Given the description of an element on the screen output the (x, y) to click on. 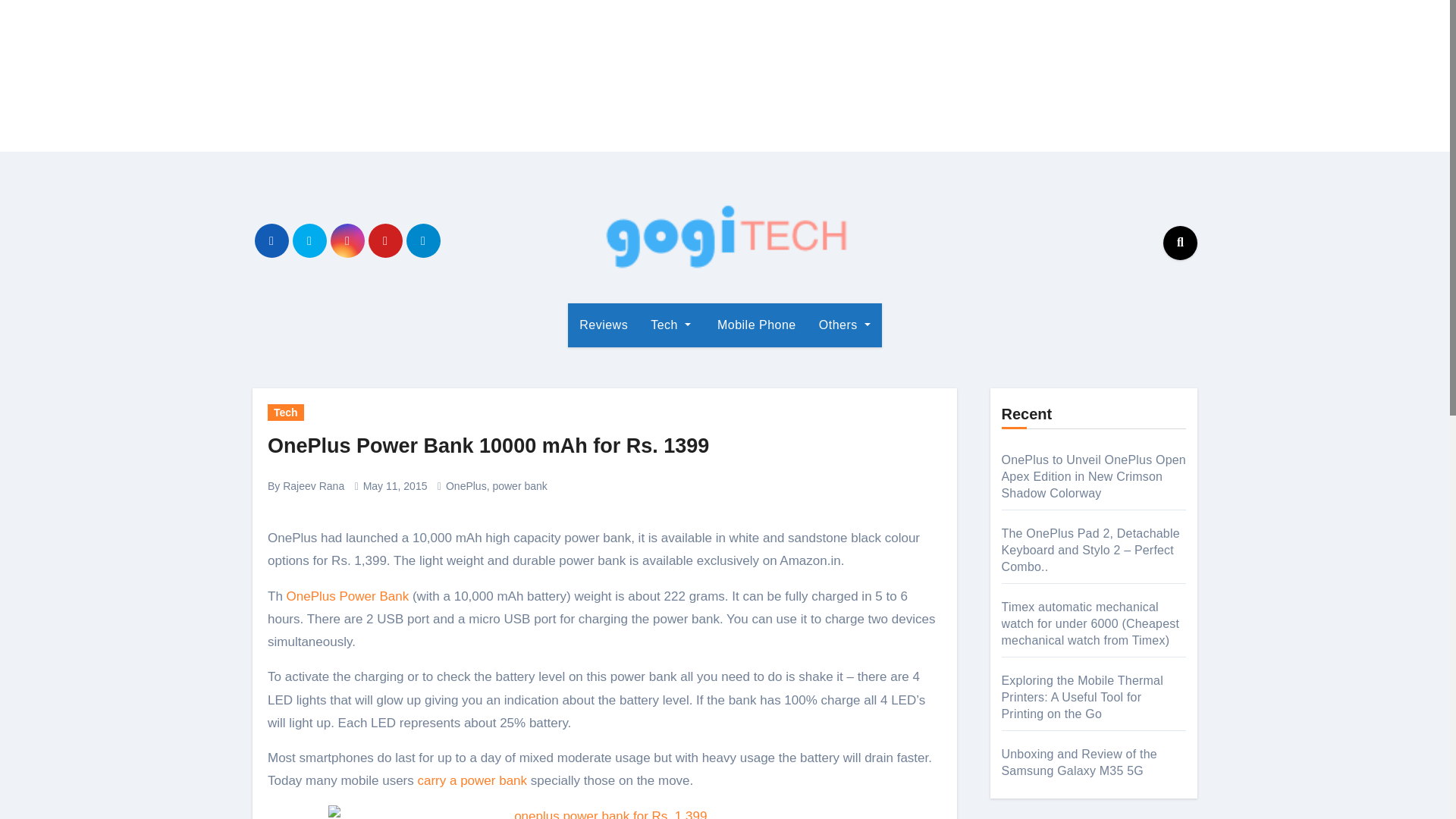
Tech (285, 412)
Permalink to: OnePlus Power Bank 10000 mAh for Rs. 1399 (488, 445)
Tech (670, 325)
Reviews (603, 325)
oneplus power bank for Rs. 1,399 (604, 812)
By Rajeev Rana (305, 485)
OnePlus Power Bank 10000 mAh for Rs. 1399 (488, 445)
Others (845, 325)
Tech (670, 325)
 Mobile Phone (754, 325)
Others (845, 325)
Mobile Phone Section (754, 325)
Reviews (603, 325)
